Given the description of an element on the screen output the (x, y) to click on. 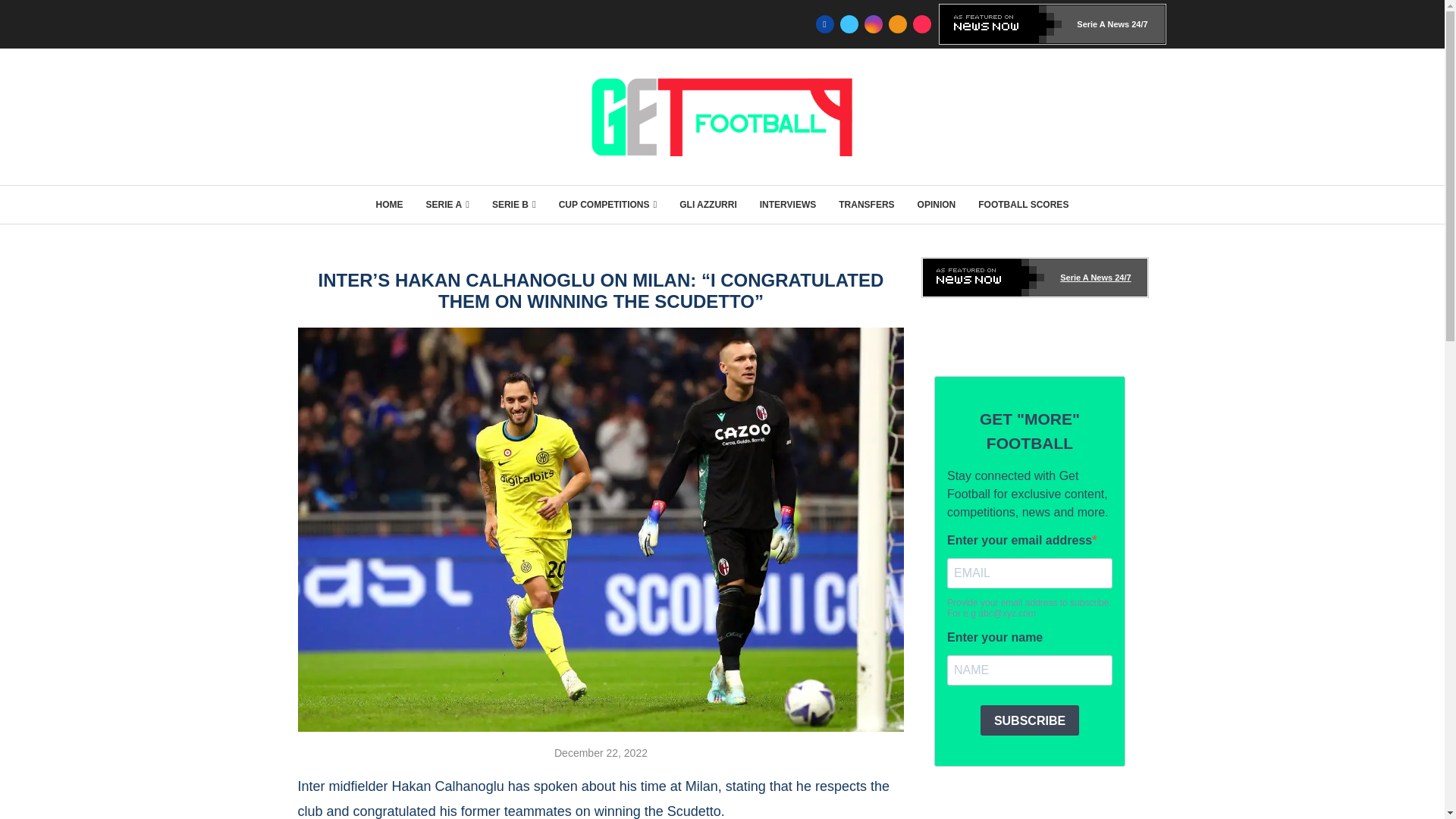
SERIE B (513, 204)
SERIE A (447, 204)
Click here for more Italian football news from NewsNow (1034, 277)
HOME (389, 204)
Click here for more Italian football news from NewsNow (1052, 24)
